Given the description of an element on the screen output the (x, y) to click on. 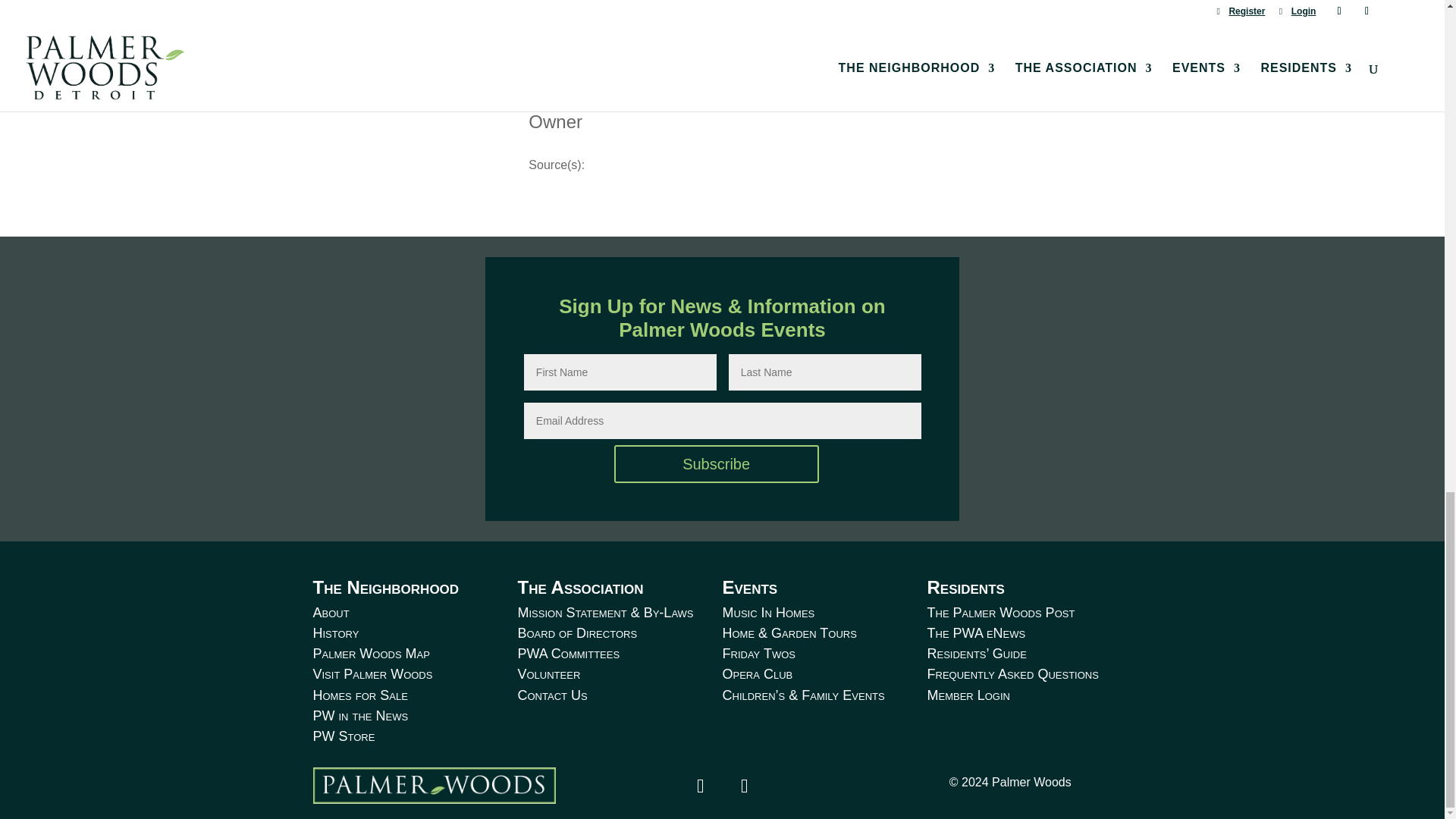
Screen Shot 2020-08-09 at 8.50.07 PM (433, 785)
Follow on Facebook (700, 786)
Follow on Instagram (743, 786)
